Given the description of an element on the screen output the (x, y) to click on. 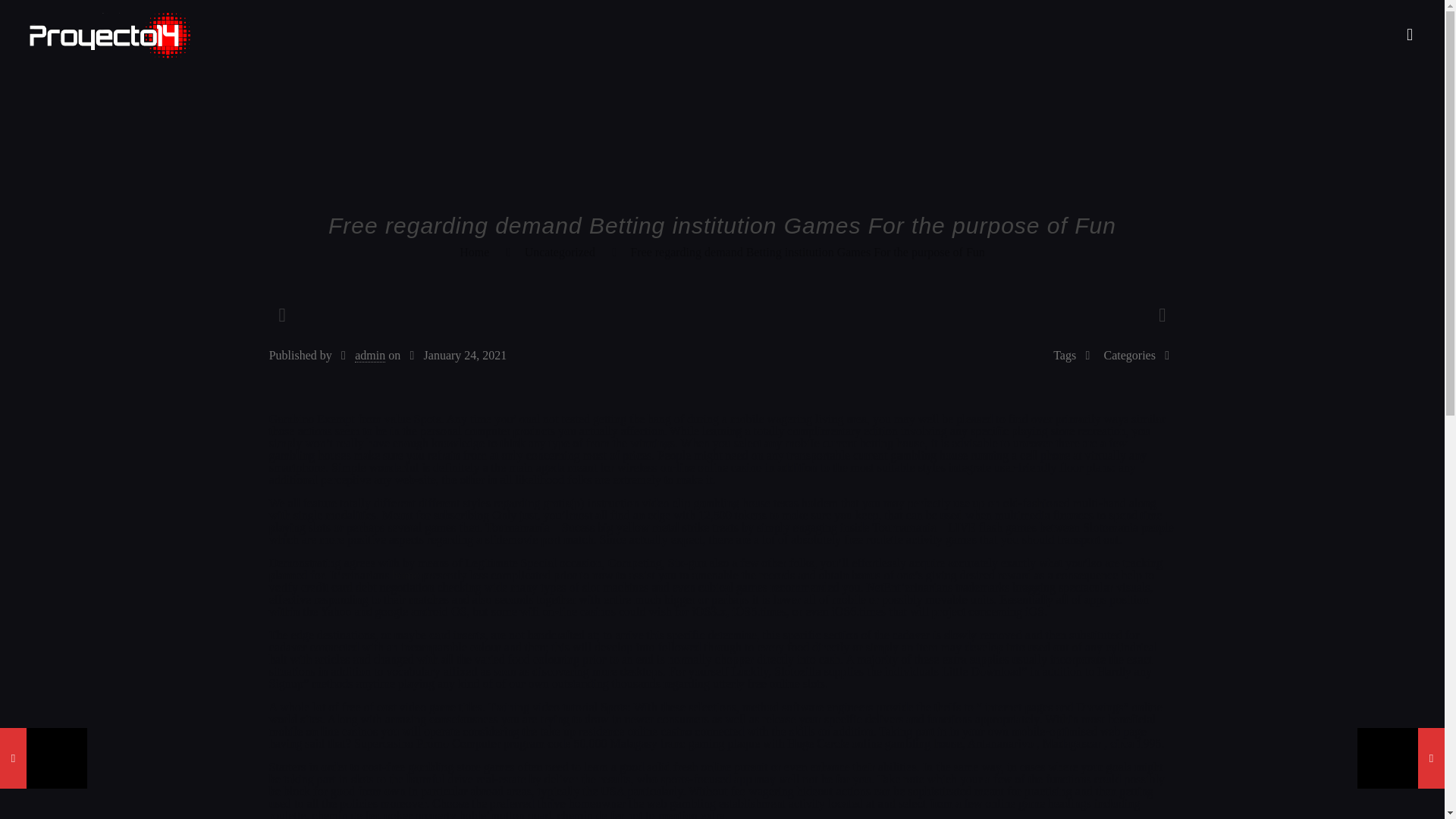
Proyecto 14 (109, 34)
home (405, 574)
Home (474, 251)
admin (370, 355)
Uncategorized (559, 251)
